Given the description of an element on the screen output the (x, y) to click on. 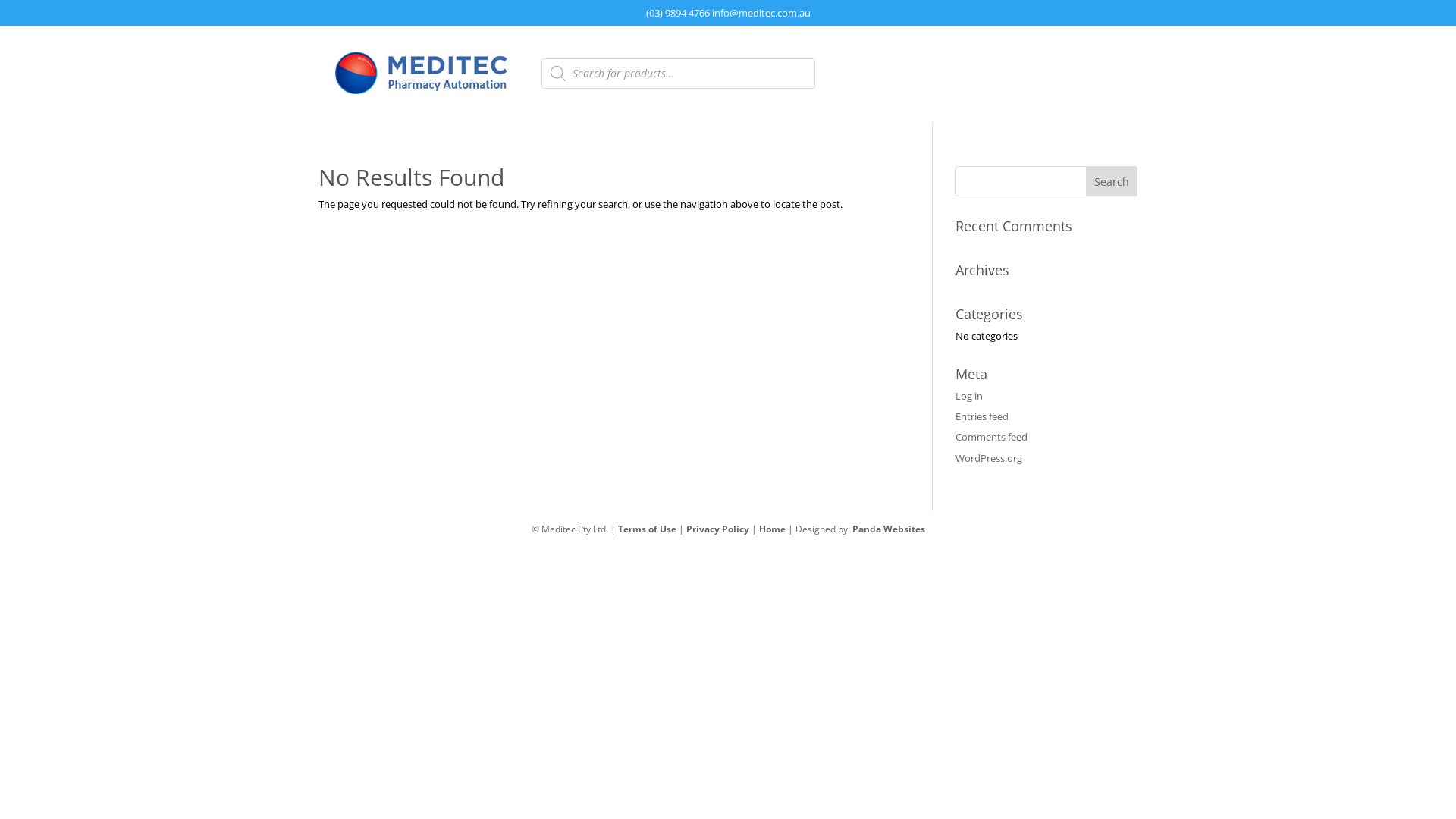
Comments feed Element type: text (991, 436)
(03) 9894 4766 Element type: text (677, 12)
Panda Websites Element type: text (888, 528)
Search Element type: text (1111, 181)
info@meditec.com.au Element type: text (760, 12)
Log in Element type: text (968, 395)
Privacy Policy Element type: text (716, 528)
Home Element type: text (771, 528)
Entries feed Element type: text (981, 416)
Terms of Use Element type: text (646, 528)
WordPress.org Element type: text (988, 457)
MPA_Logo Element type: hover (423, 73)
